Given the description of an element on the screen output the (x, y) to click on. 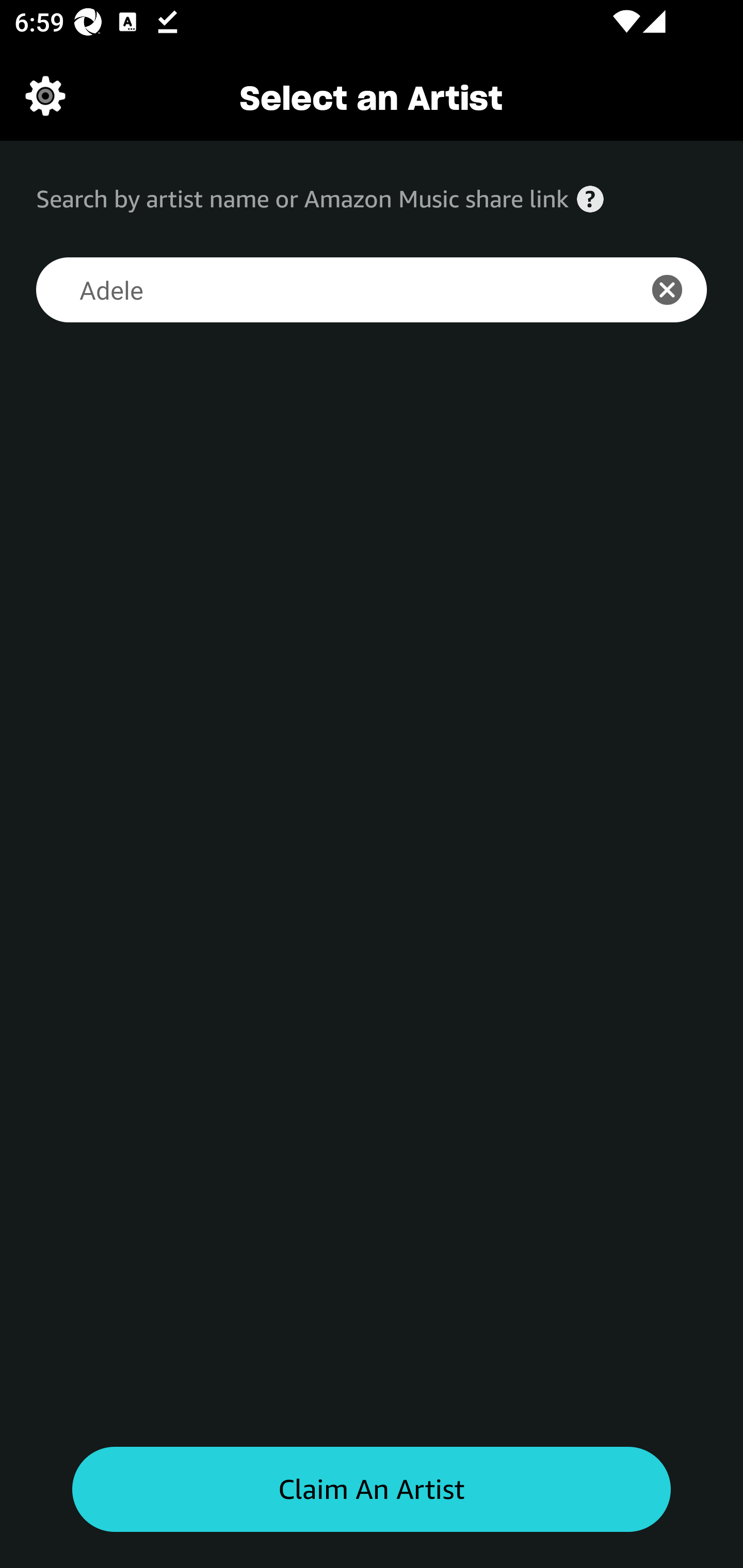
Help  icon (589, 199)
Adele Search for an artist search bar (324, 290)
 icon (677, 290)
Claim an artist button Claim An Artist (371, 1489)
